Given the description of an element on the screen output the (x, y) to click on. 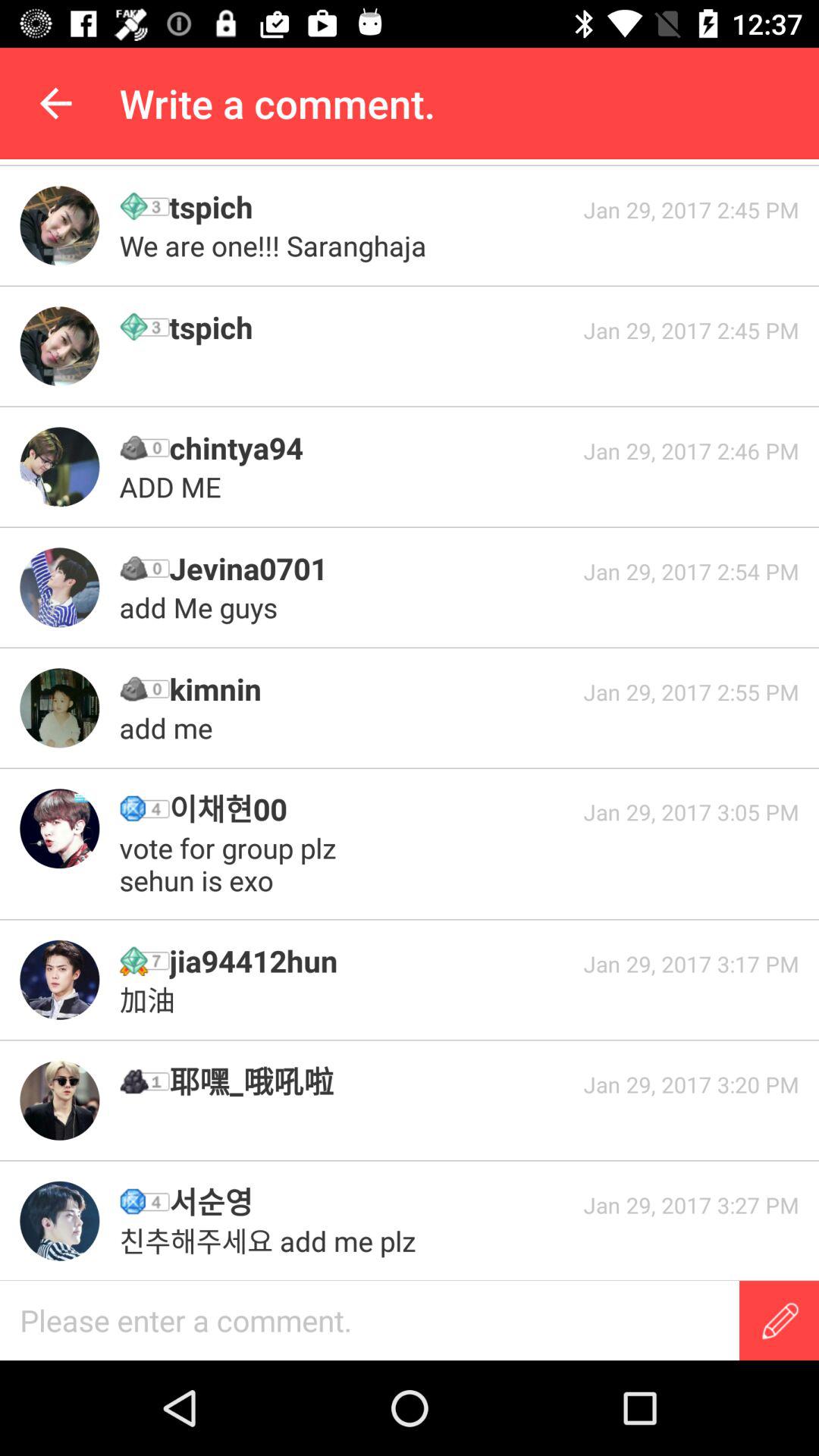
open jia94412hun profile picture (59, 979)
